Given the description of an element on the screen output the (x, y) to click on. 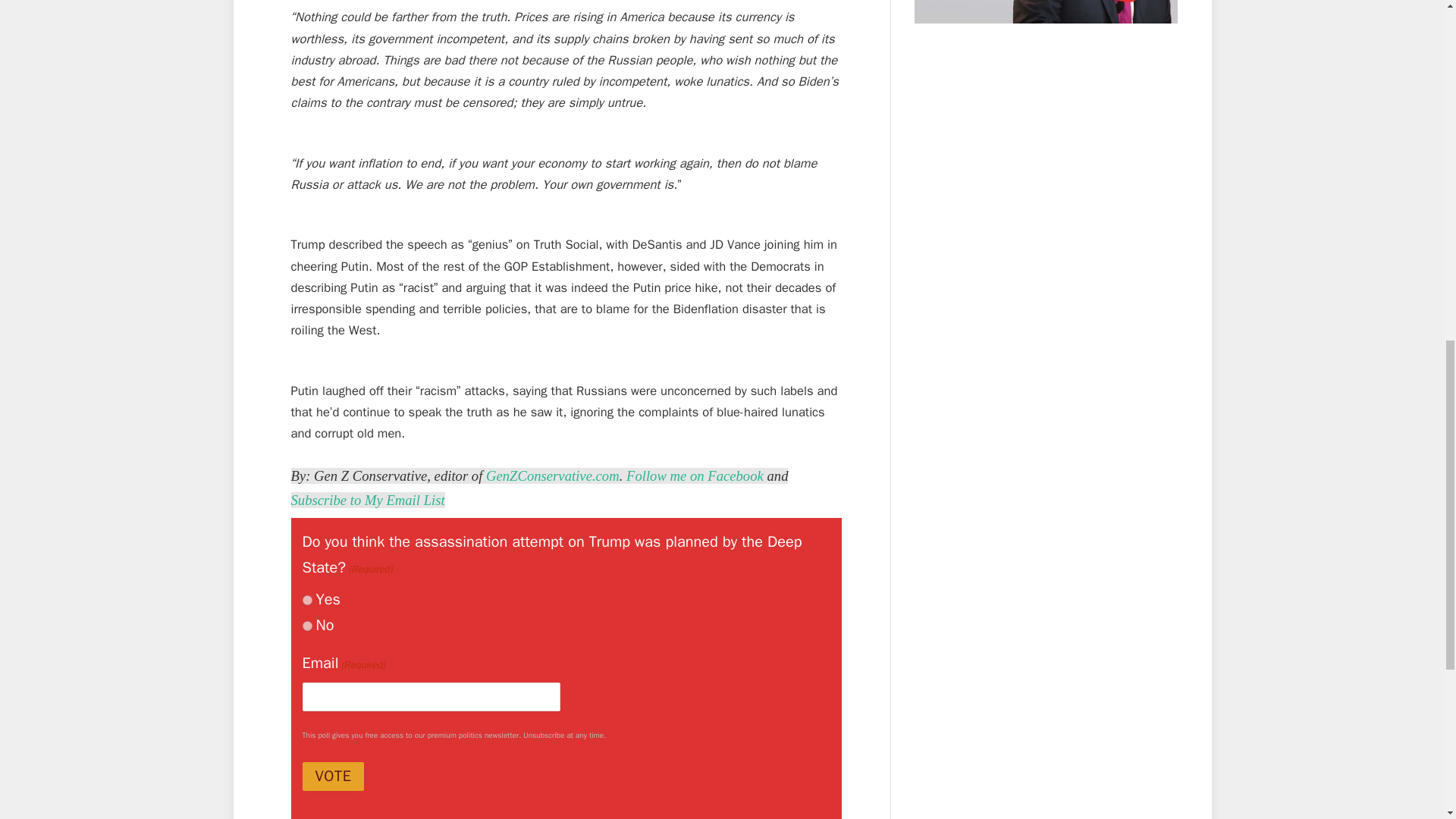
GenZConservative.com (553, 475)
VOTE (332, 776)
VOTE (332, 776)
gpoll1b2a53ce5 (306, 625)
gpoll1b5b3d8f6 (306, 600)
Subscribe to My Email List (368, 499)
Follow me on Facebook (694, 475)
